Given the description of an element on the screen output the (x, y) to click on. 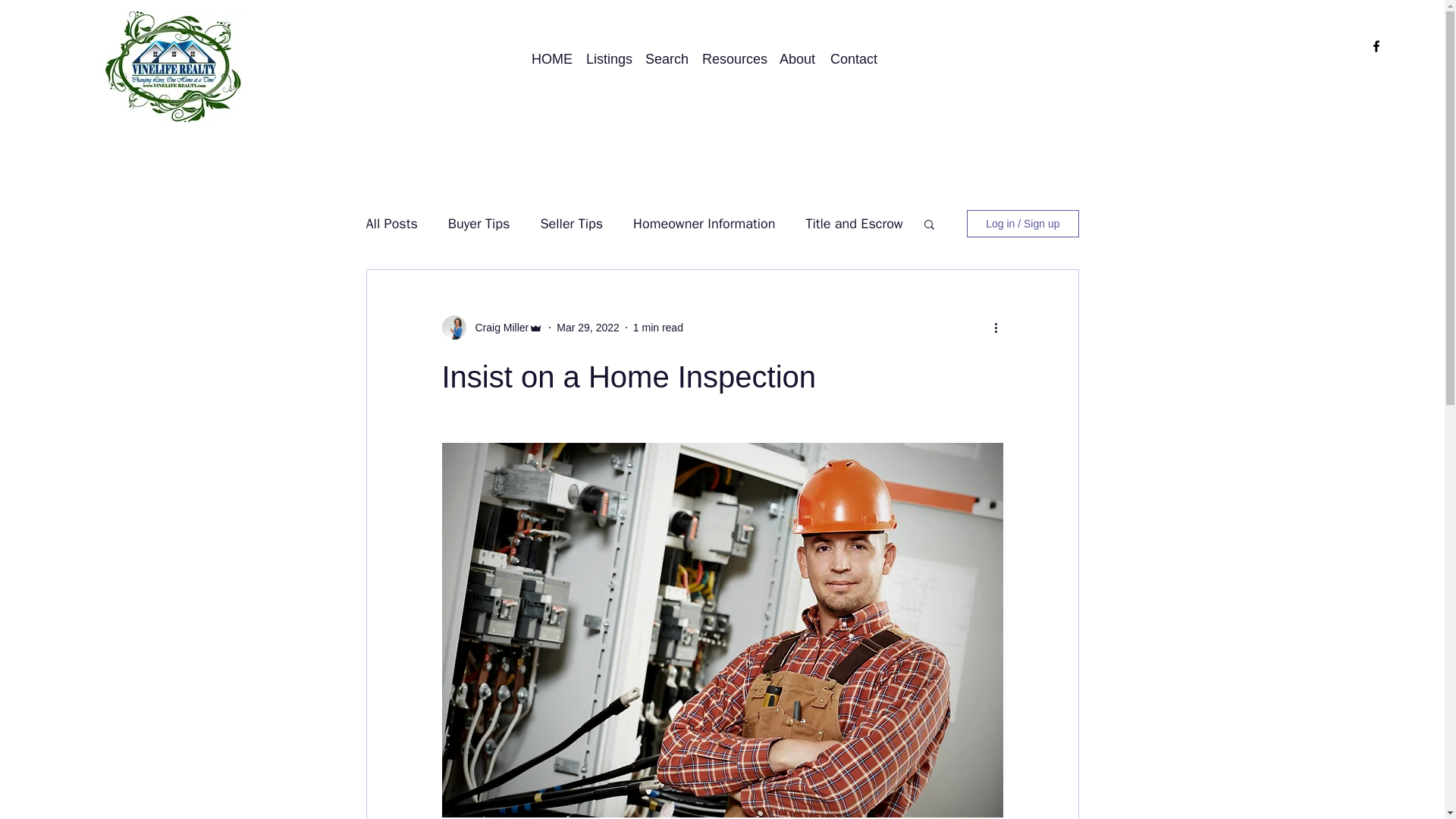
Title and Escrow (853, 223)
Seller Tips (571, 223)
Resources (732, 58)
1 min read (657, 327)
Search (665, 58)
HOME (551, 58)
All Posts (390, 223)
About (796, 58)
Contact (852, 58)
Listings (607, 58)
Homeowner Information (703, 223)
Mar 29, 2022 (588, 327)
Buyer Tips (479, 223)
Craig Miller (496, 327)
